Given the description of an element on the screen output the (x, y) to click on. 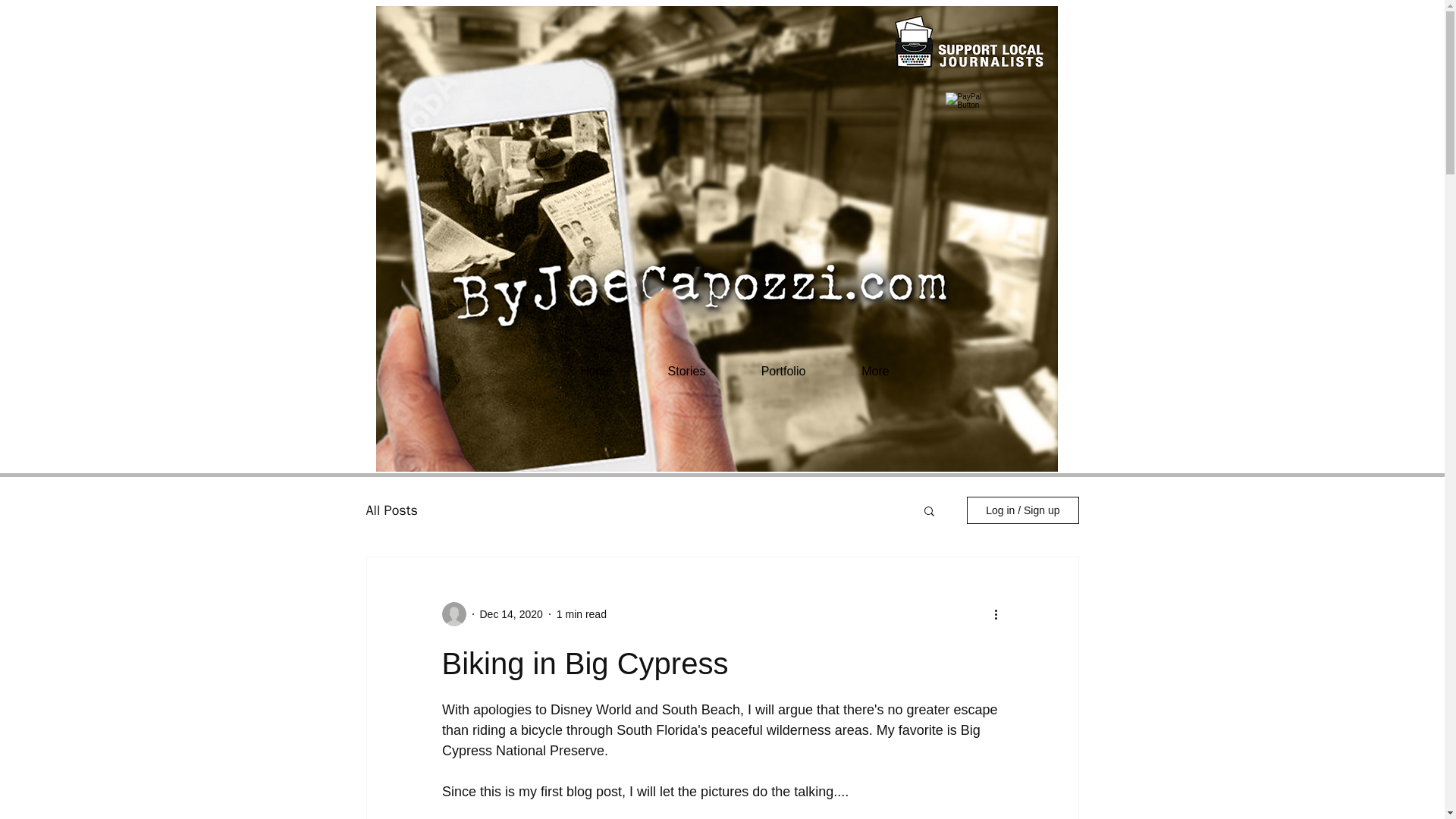
Stories (686, 370)
Portfolio (782, 370)
Dec 14, 2020 (510, 613)
Home (595, 370)
1 min read (581, 613)
All Posts (390, 510)
